Given the description of an element on the screen output the (x, y) to click on. 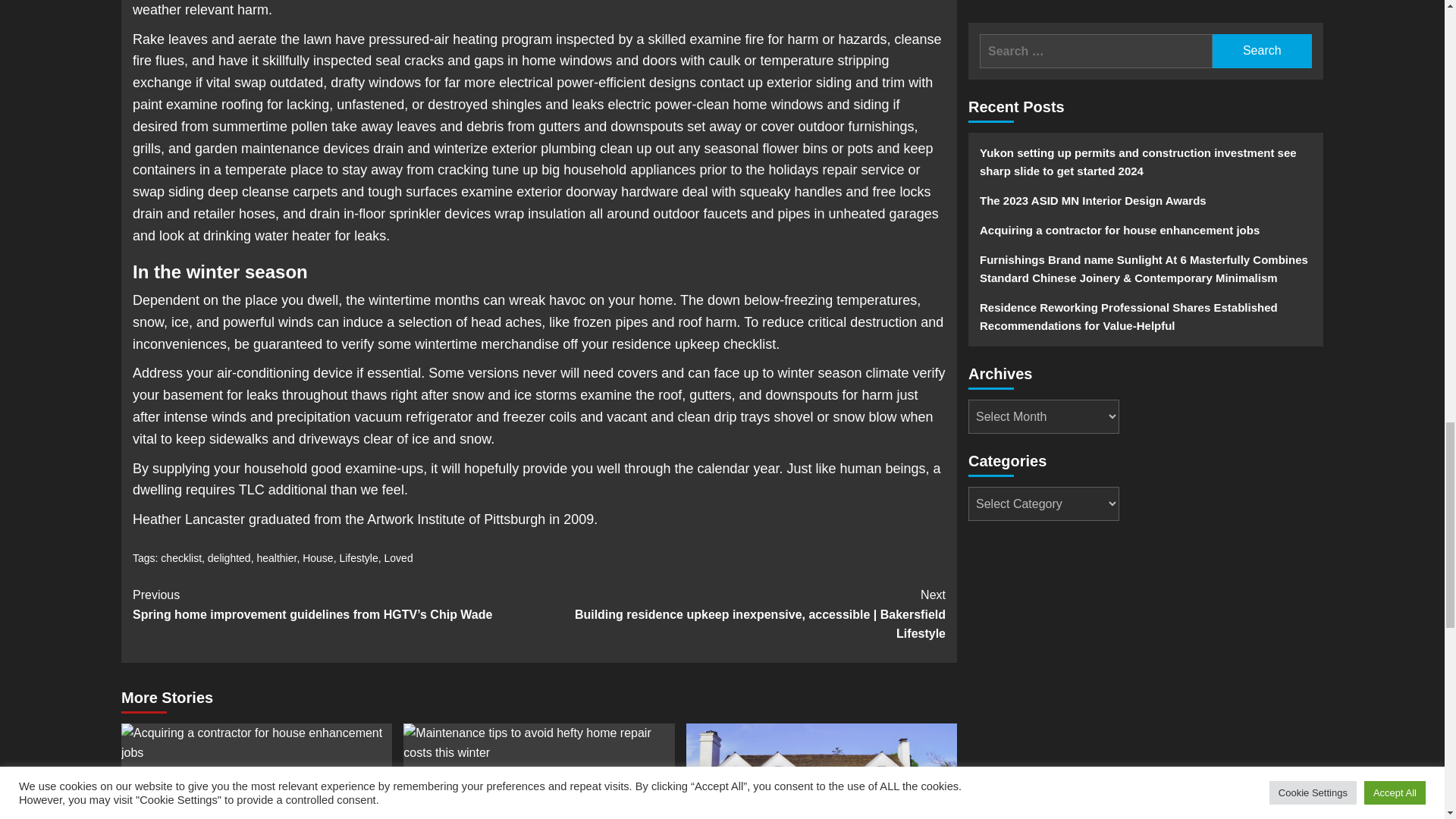
House (317, 558)
healthier (276, 558)
Acquiring a contractor for house enhancement jobs (255, 742)
Lifestyle (358, 558)
delighted (229, 558)
Loved (398, 558)
checklist (181, 558)
